Given the description of an element on the screen output the (x, y) to click on. 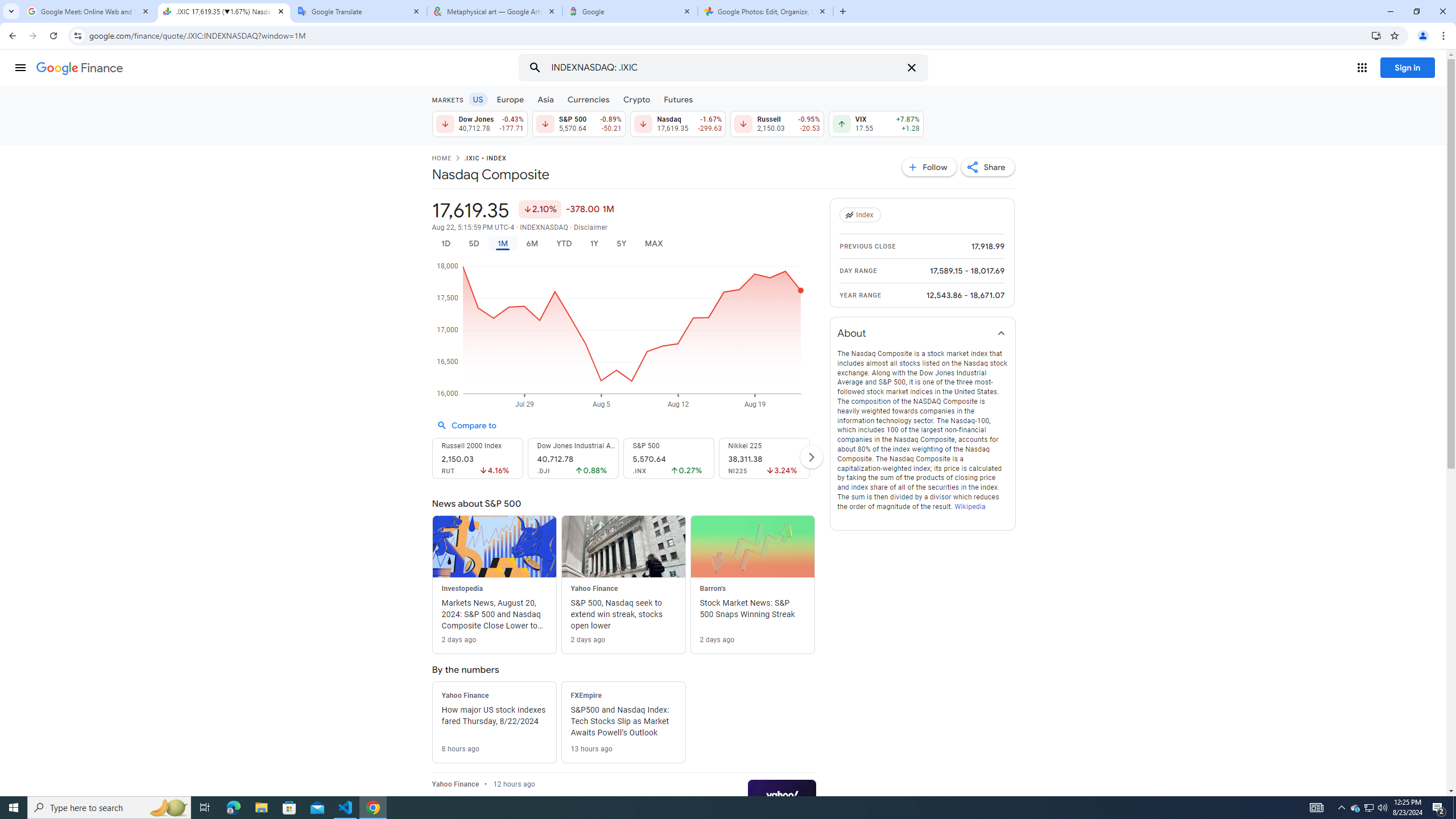
Crypto (636, 99)
Share (987, 167)
Install Google Finance (1376, 35)
1Y (594, 243)
